Given the description of an element on the screen output the (x, y) to click on. 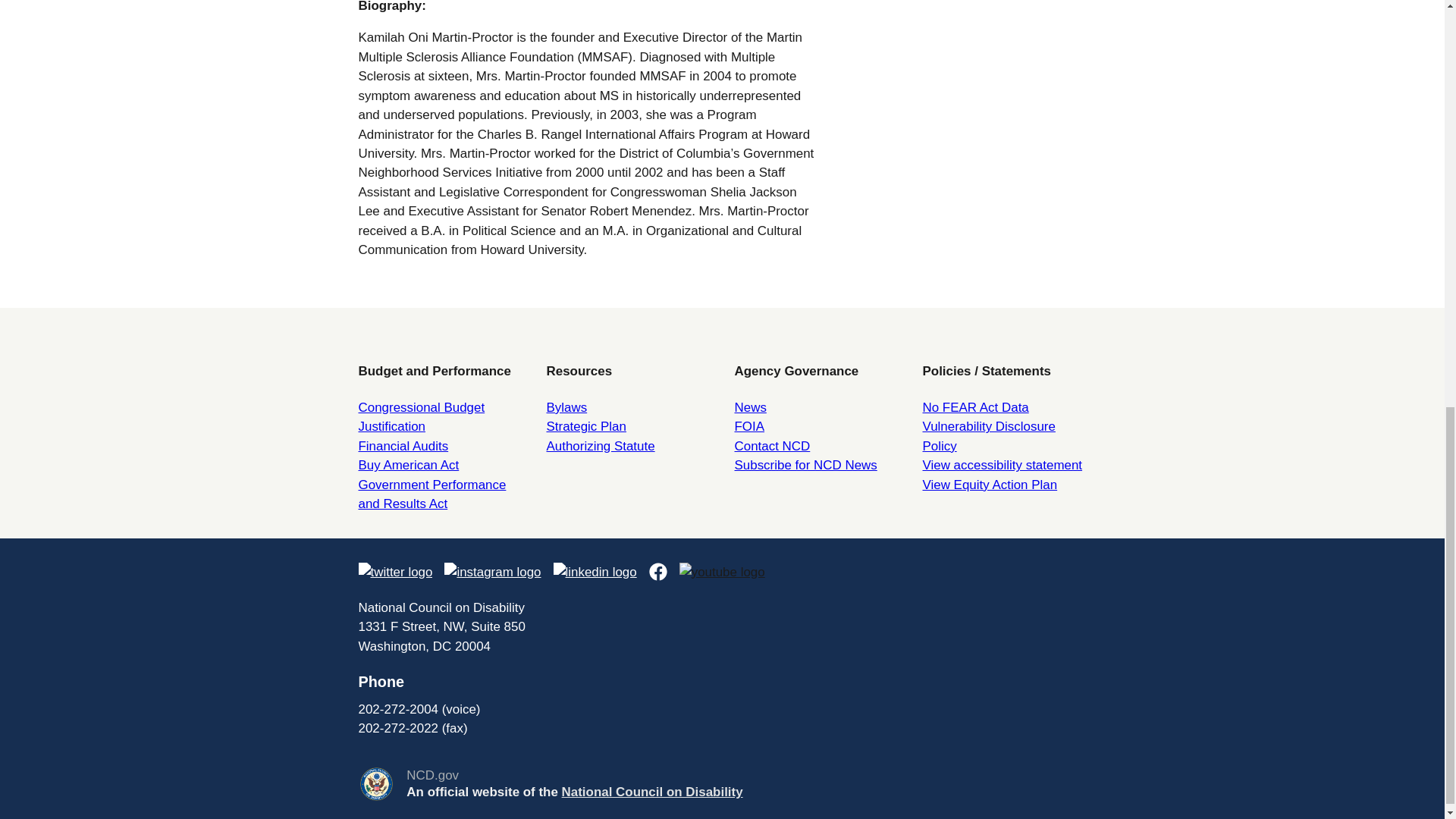
Financial Audits (403, 445)
Authorizing Statute (599, 445)
Strategic Plan (586, 426)
View Equity Action Plan (989, 484)
Congressional Budget Justification (421, 417)
View accessibility statement (1001, 464)
FOIA (748, 426)
Bylaws (566, 407)
News (749, 407)
Buy American Act (408, 464)
No FEAR Act Data (974, 407)
Vulnerability Disclosure Policy (987, 435)
Contact NCD (771, 445)
Government Performance and Results Act (431, 494)
Subscribe for NCD News (804, 464)
